Given the description of an element on the screen output the (x, y) to click on. 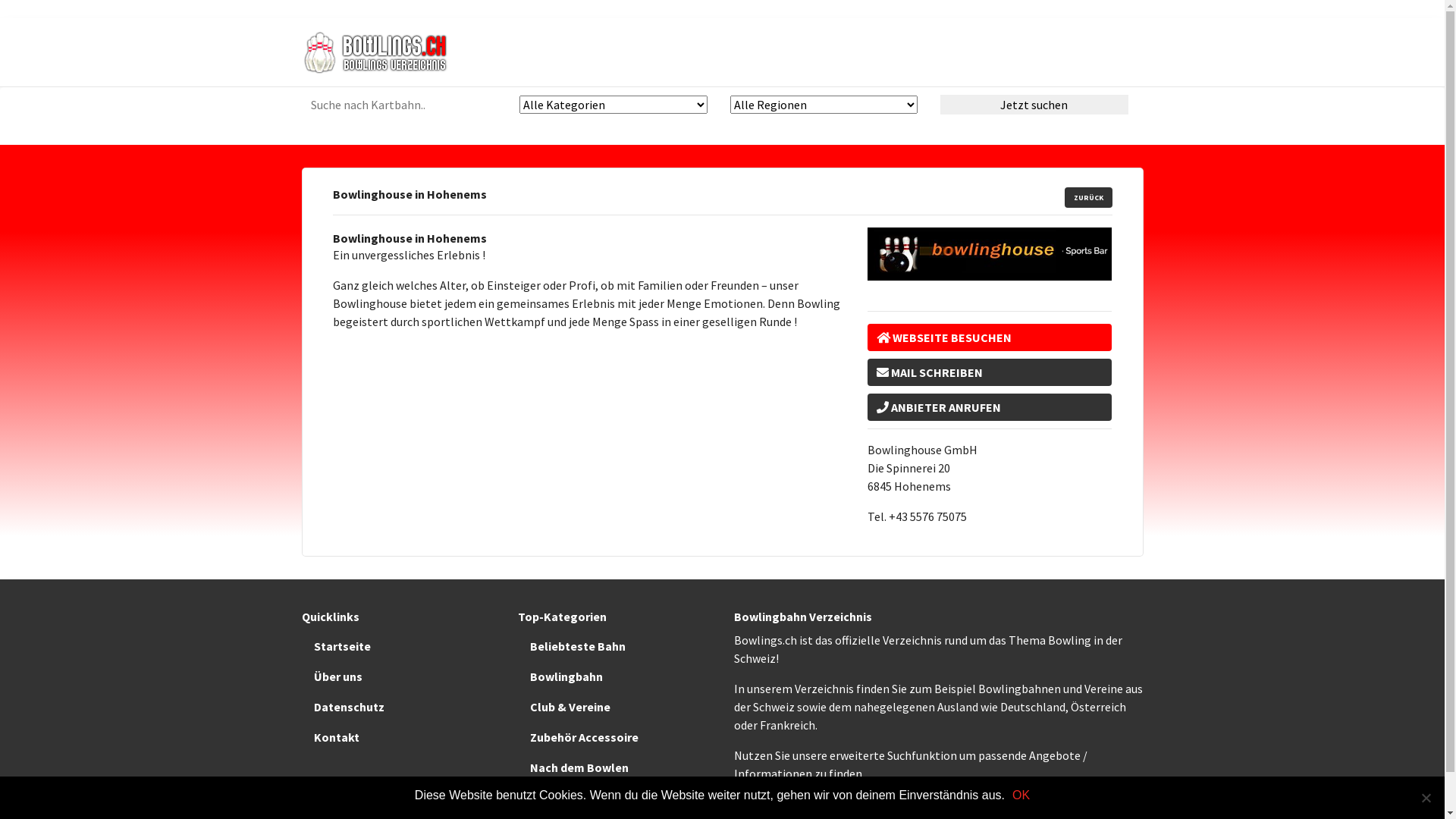
Club & Vereine Element type: text (613, 706)
OK Element type: text (1020, 795)
Nach dem Bowlen Element type: text (613, 767)
ANBIETER ANRUFEN Element type: text (989, 406)
WEBSEITE BESUCHEN Element type: text (989, 337)
Beliebteste Bahn Element type: text (613, 645)
Weitere Freizeit Angebote Element type: text (613, 797)
MAIL SCHREIBEN Element type: text (989, 371)
Kontakt Element type: text (398, 736)
Datenschutz Element type: text (398, 706)
Jetzt suchen Element type: text (1034, 104)
Bowlingbahn Element type: text (613, 676)
Startseite Element type: text (398, 645)
Nein Element type: hover (1425, 797)
